Given the description of an element on the screen output the (x, y) to click on. 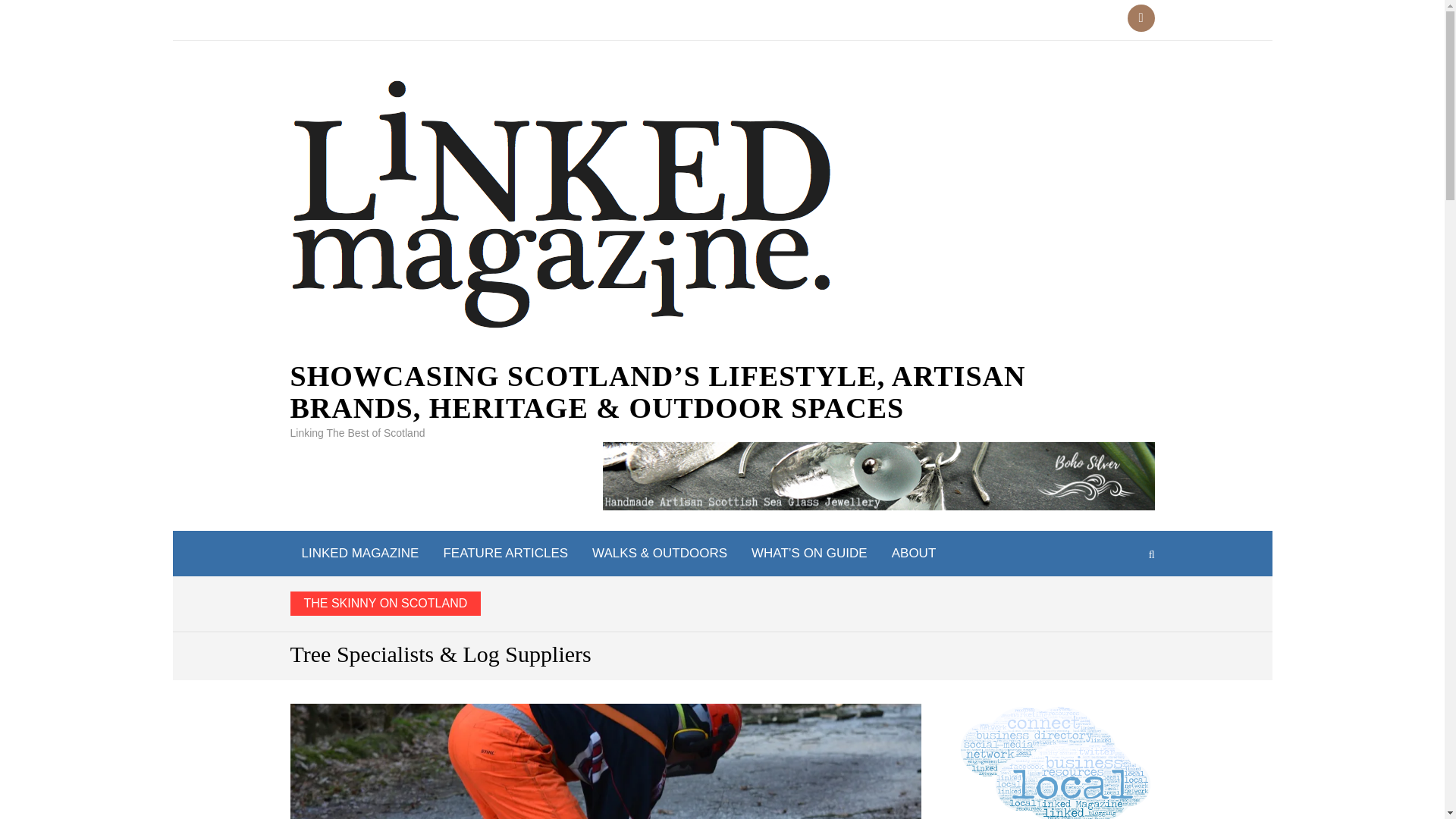
THE SKINNY ON SCOTLAND (384, 603)
THE SKINNY ON SCOTLAND (722, 603)
instagram (1140, 17)
LINKED MAGAZINE (359, 553)
ABOUT (913, 553)
FEATURE ARTICLES (504, 553)
